Given the description of an element on the screen output the (x, y) to click on. 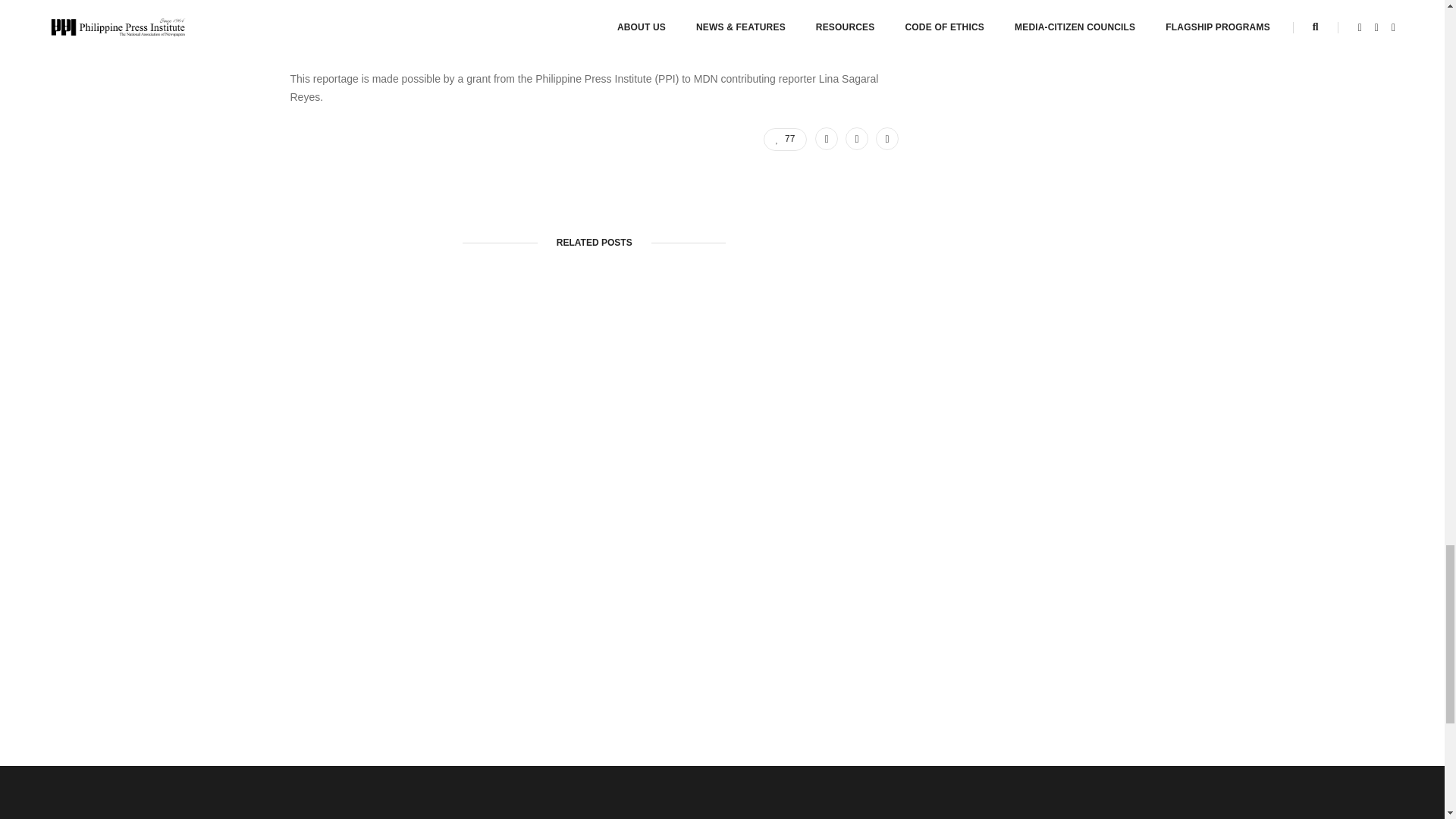
Like (784, 138)
